Given the description of an element on the screen output the (x, y) to click on. 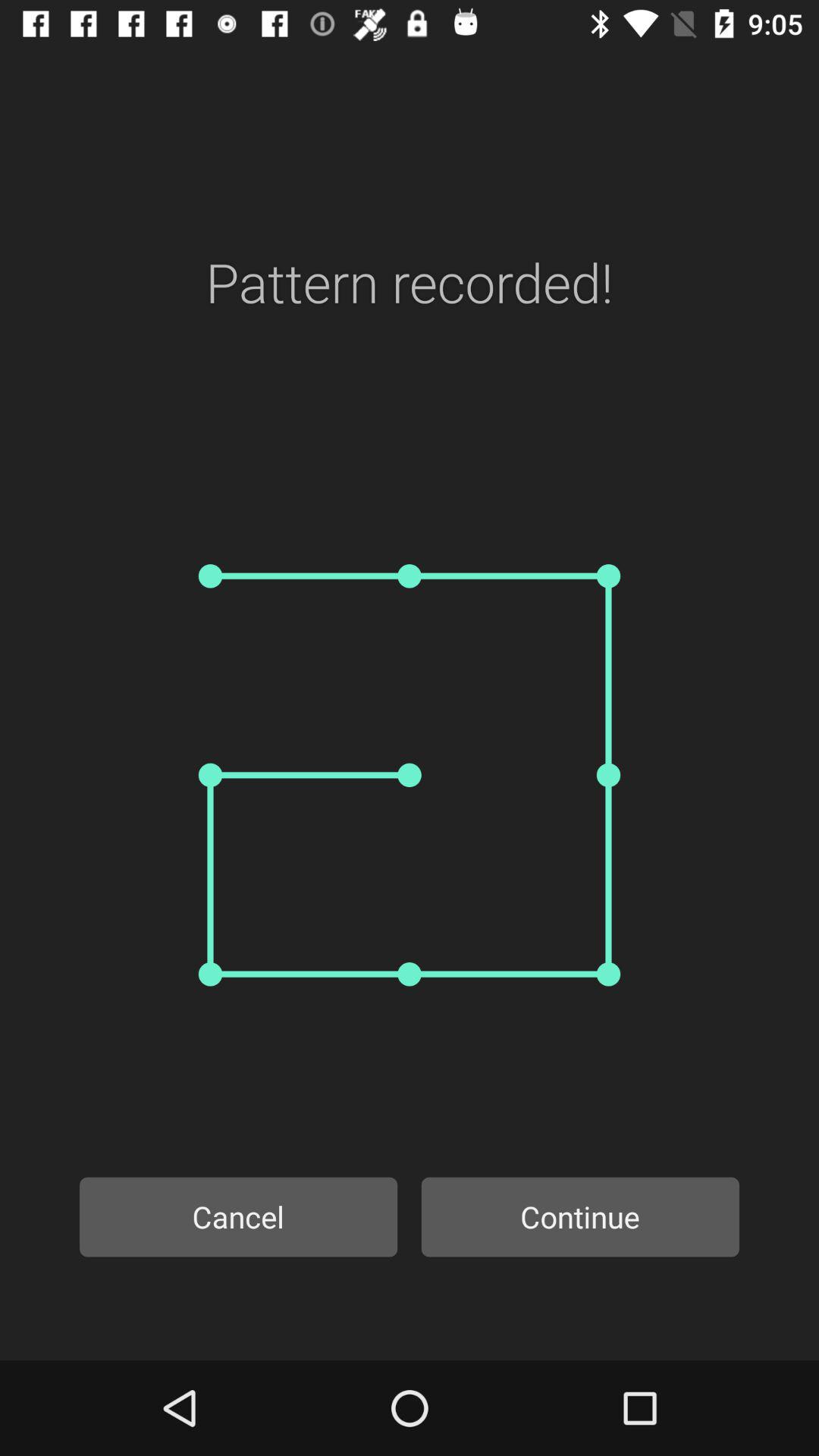
flip until continue icon (580, 1216)
